Given the description of an element on the screen output the (x, y) to click on. 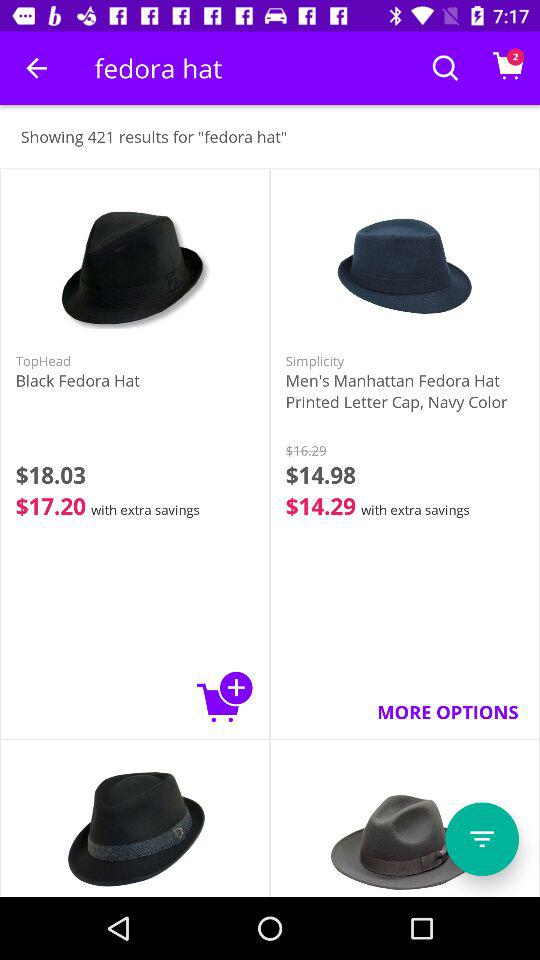
add to shopping basket (225, 696)
